Given the description of an element on the screen output the (x, y) to click on. 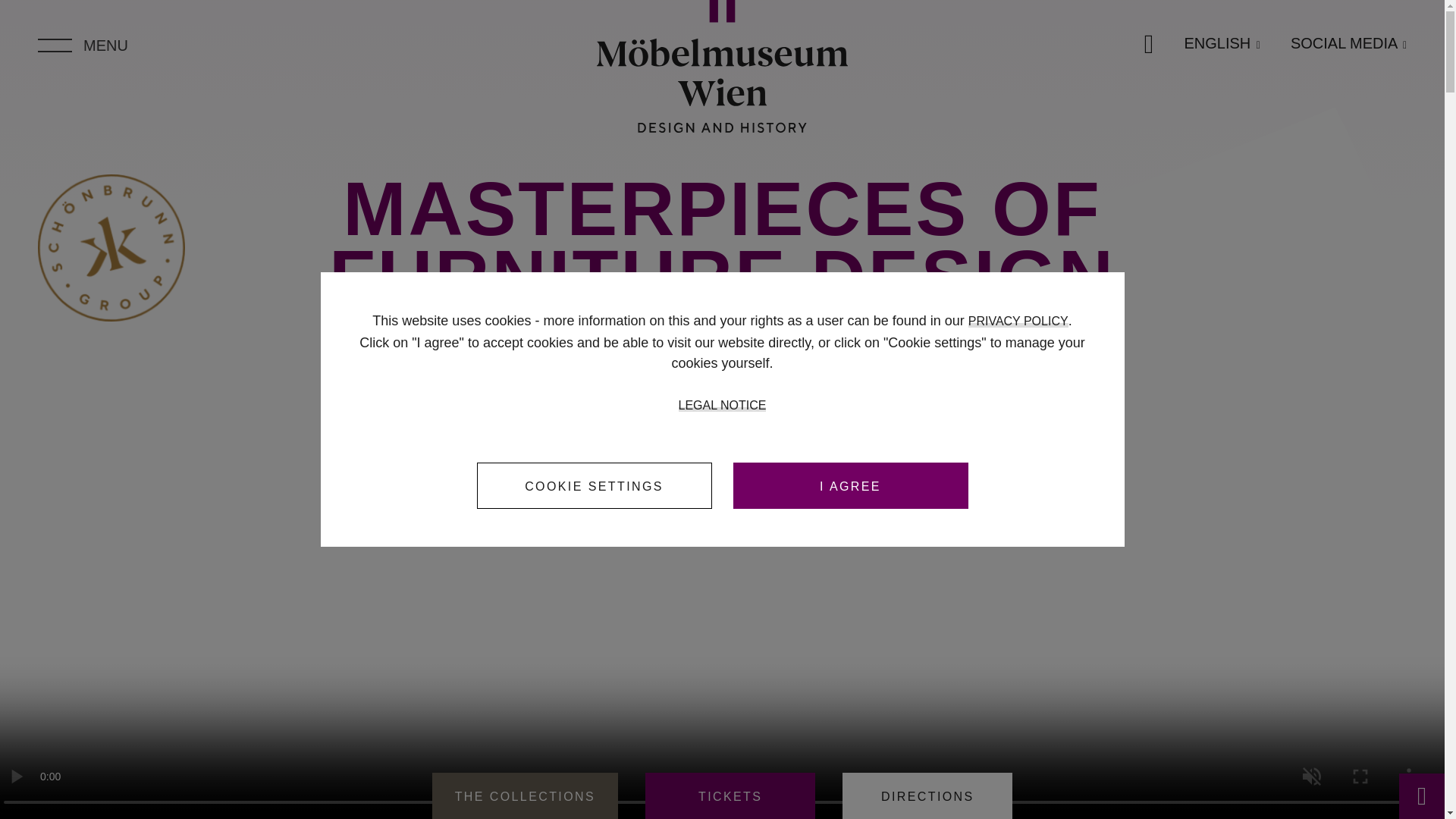
ENGLISH (1221, 43)
TICKETS (730, 796)
DIRECTIONS (927, 796)
Directions (927, 796)
THE COLLECTIONS (524, 796)
Logo Furniture Museum Vienna (722, 66)
SOCIAL MEDIA (1348, 43)
Tickets (730, 796)
The Collections (524, 796)
